Given the description of an element on the screen output the (x, y) to click on. 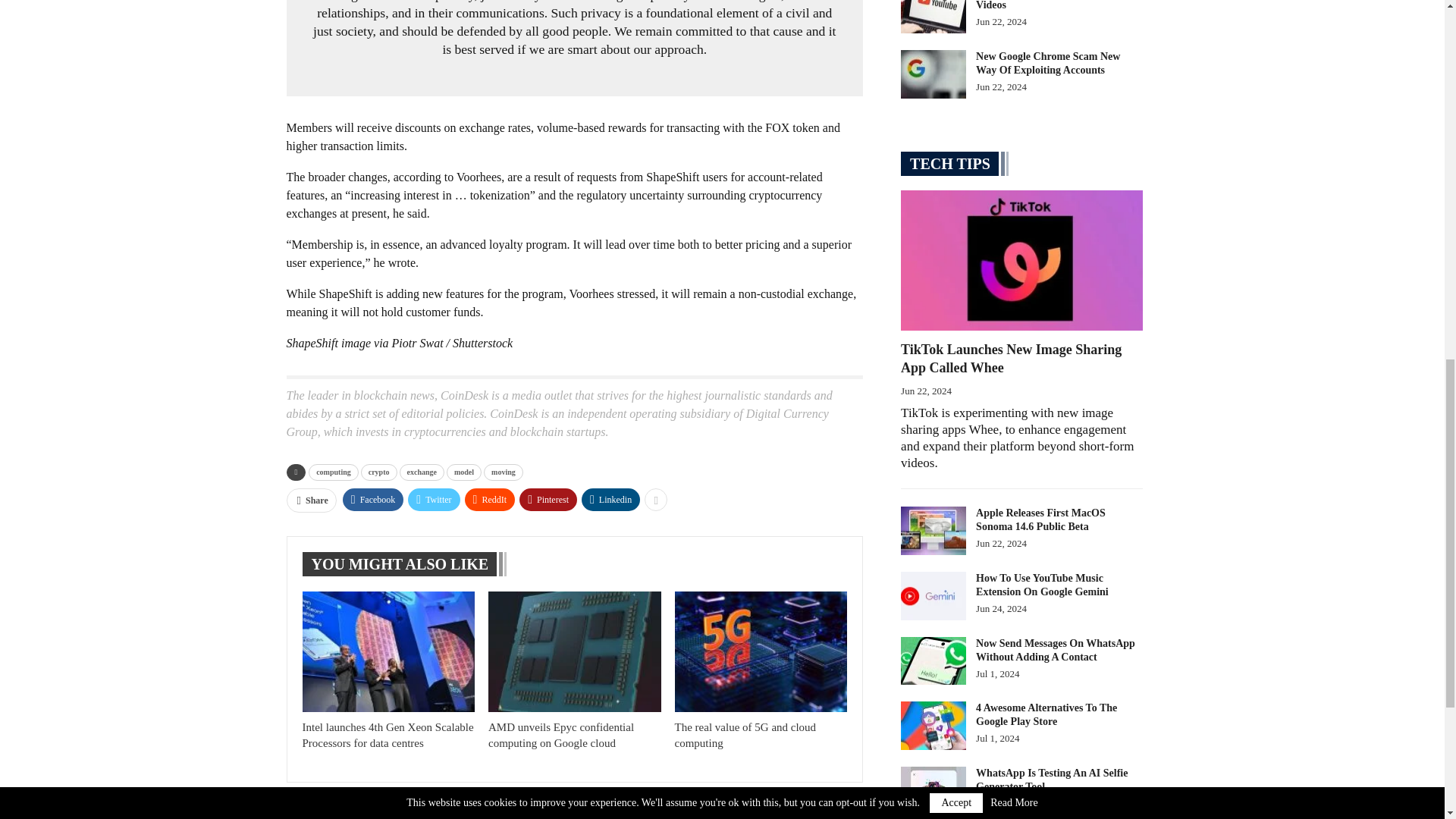
New Google Chrome Scam New Way of Exploiting Accounts (933, 73)
The real value of 5G and cloud computing (745, 735)
Facebook (373, 499)
ReddIt (489, 499)
exchange (421, 472)
AMD unveils Epyc confidential computing on Google cloud (560, 735)
Twitter (433, 499)
model (463, 472)
YouTube Enables Editing of Longer Videos (933, 16)
Pinterest (547, 499)
computing (333, 472)
moving (502, 472)
The real value of 5G and cloud computing (761, 651)
